Given the description of an element on the screen output the (x, y) to click on. 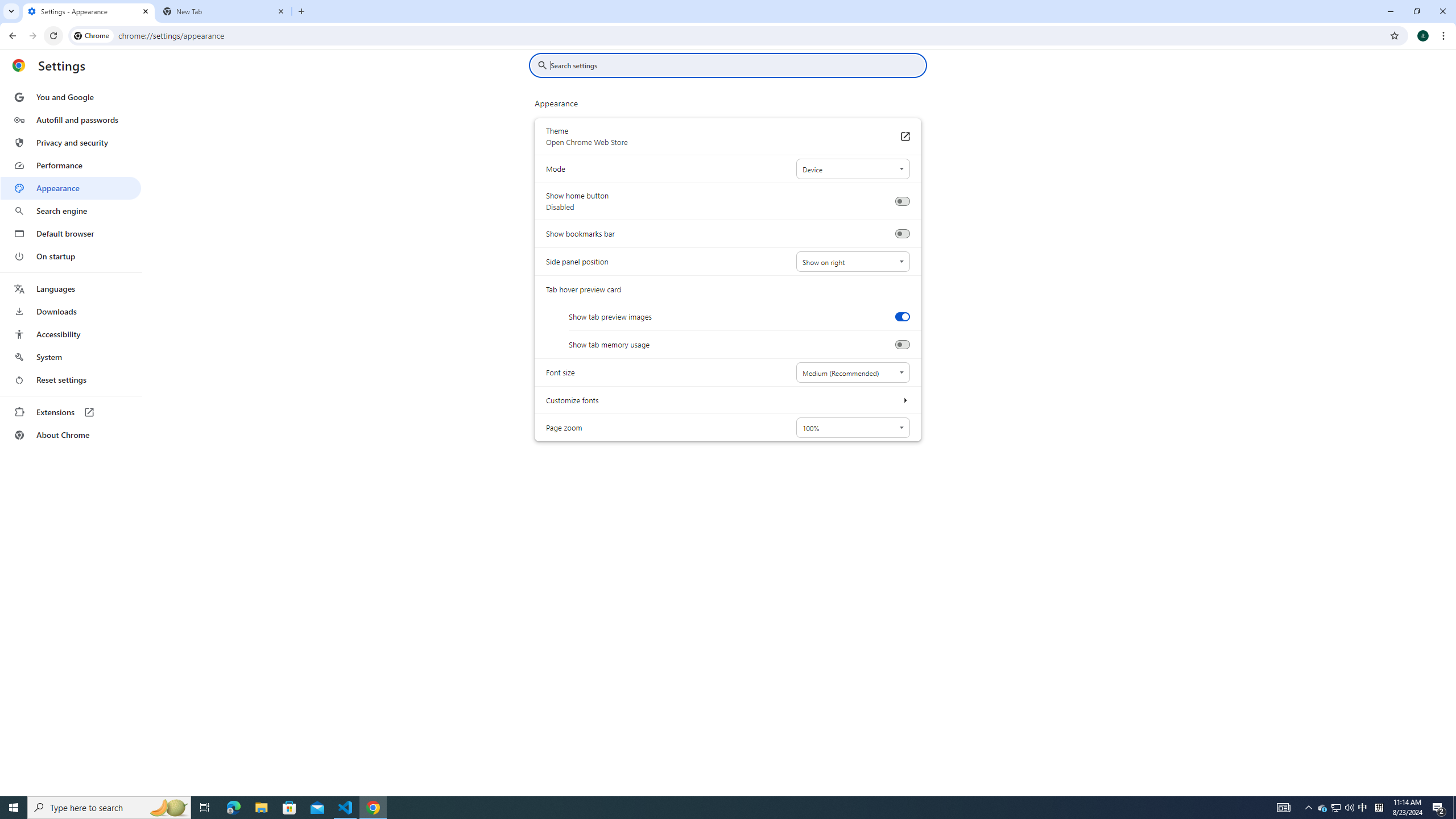
Close (280, 11)
Search engine (70, 210)
Accessibility (70, 333)
Page zoom (852, 427)
Font size (852, 372)
Search tabs (10, 11)
Bookmark this tab (1393, 35)
Show tab preview images (901, 316)
Mode (852, 168)
Customize fonts (904, 399)
About Chrome (70, 434)
Back (10, 35)
Address and search bar (750, 35)
Show home button (901, 201)
Default browser (70, 233)
